Given the description of an element on the screen output the (x, y) to click on. 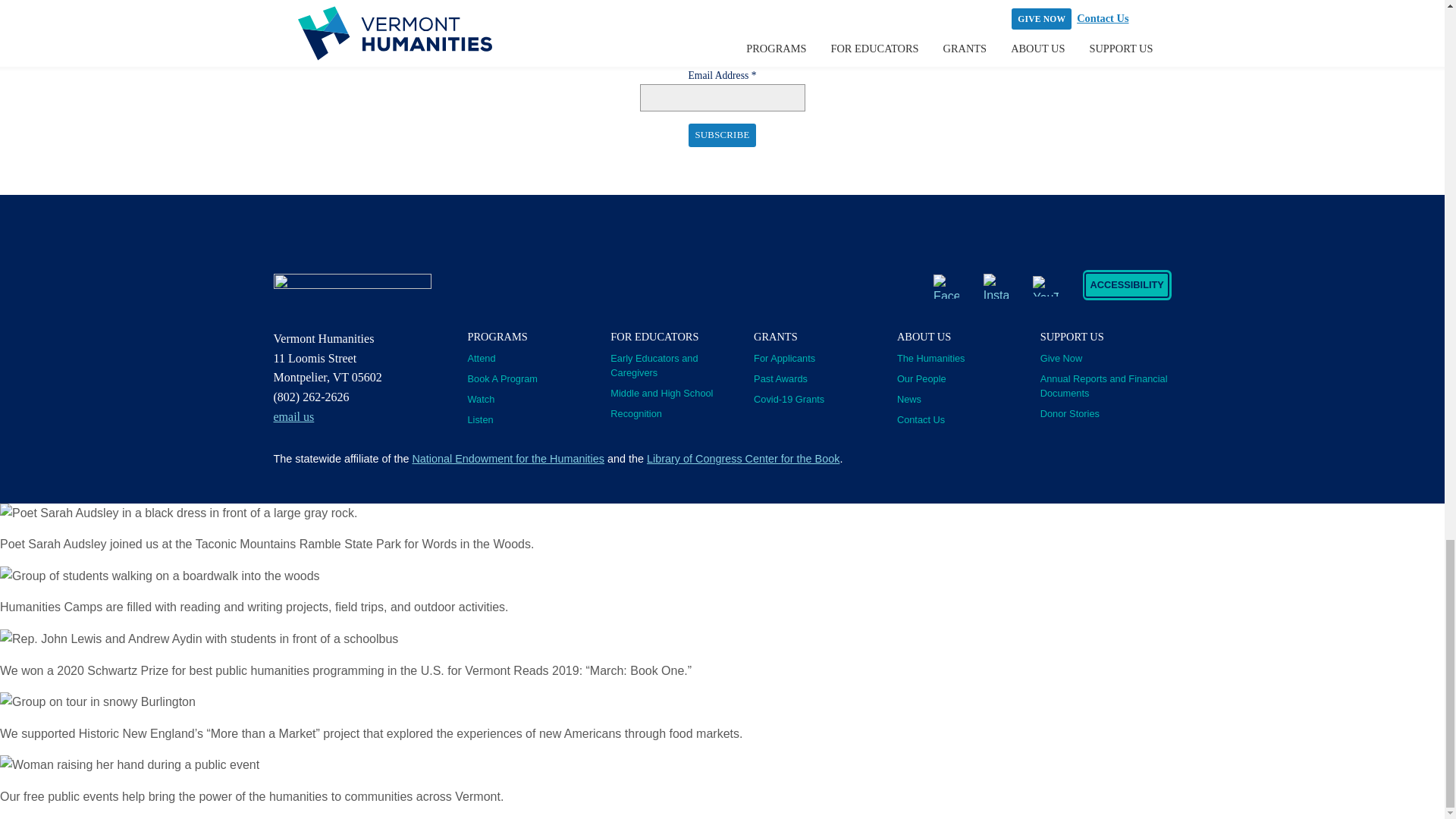
Subscribe (721, 135)
